Given the description of an element on the screen output the (x, y) to click on. 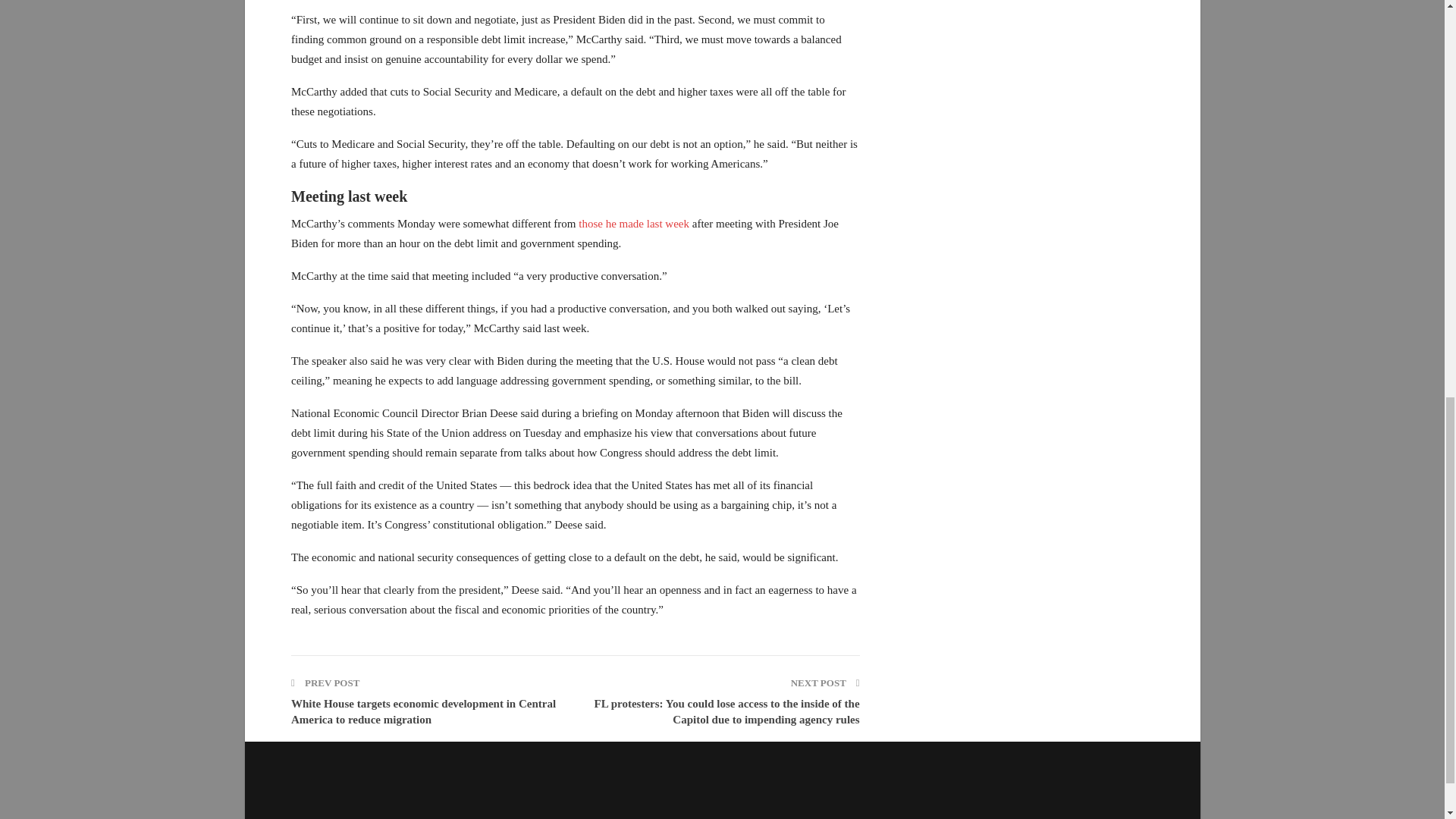
those he made last week  (635, 223)
